Given the description of an element on the screen output the (x, y) to click on. 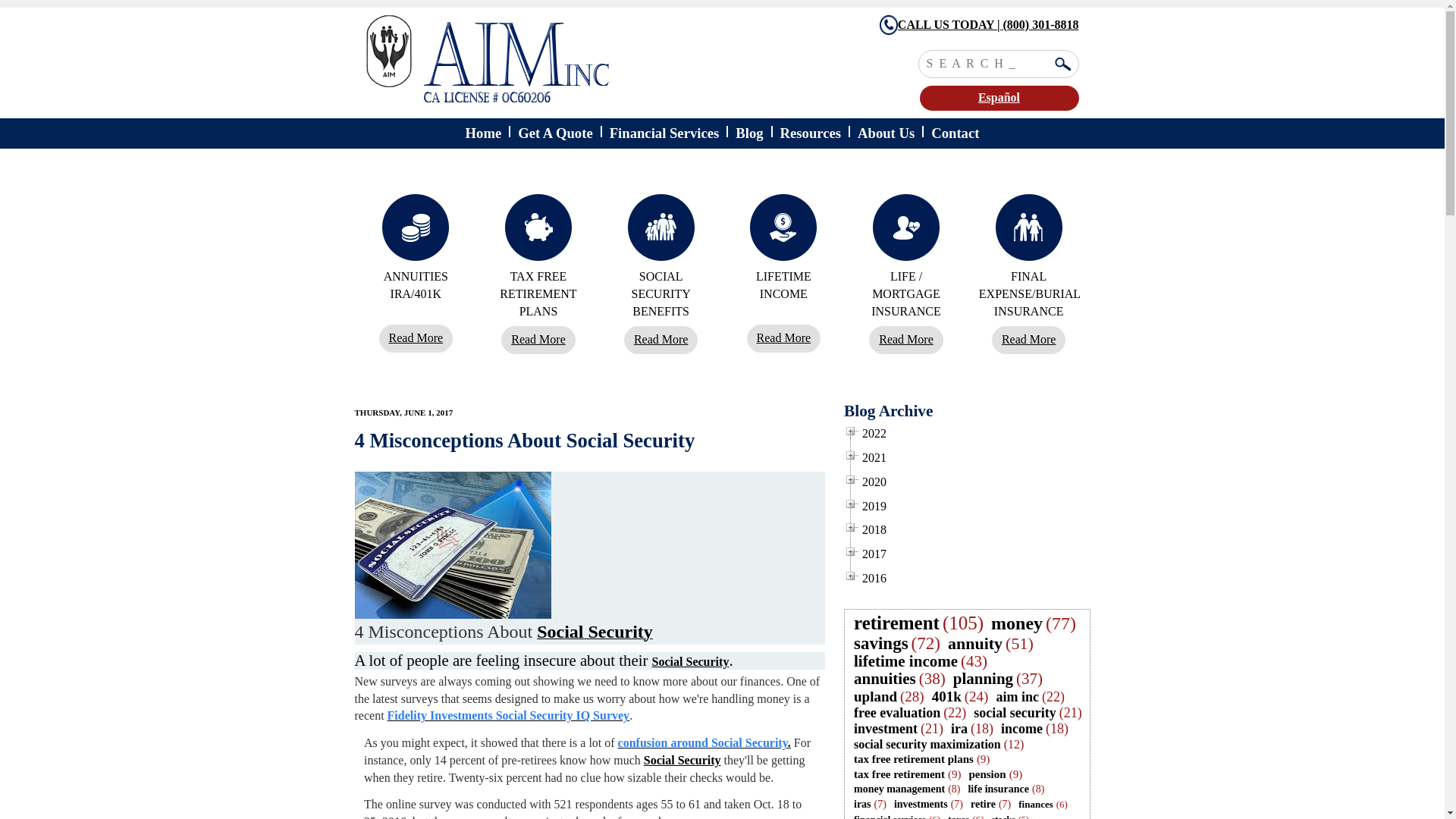
Resources (810, 133)
Final Expense (1028, 339)
Get A Quote (555, 133)
Financial Services (664, 133)
lifetime income (905, 660)
Tax Free and retirement plans (537, 339)
Blog (749, 133)
About Us (885, 133)
retirement (896, 622)
Social Security Benefits (661, 339)
Lifetime Income (783, 338)
Home (568, 58)
money (1016, 622)
annuity (975, 643)
